Given the description of an element on the screen output the (x, y) to click on. 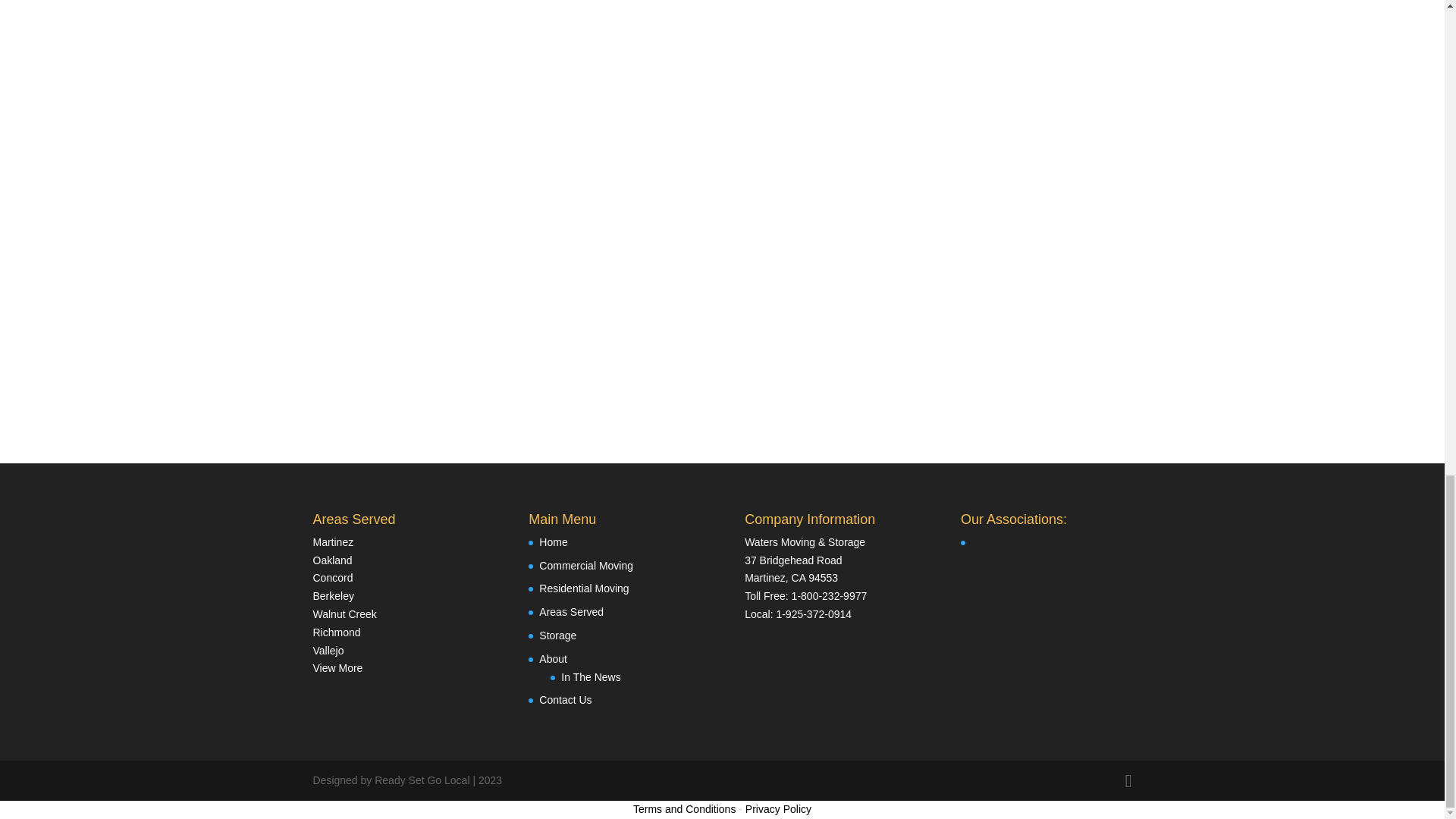
View More (337, 667)
